Given the description of an element on the screen output the (x, y) to click on. 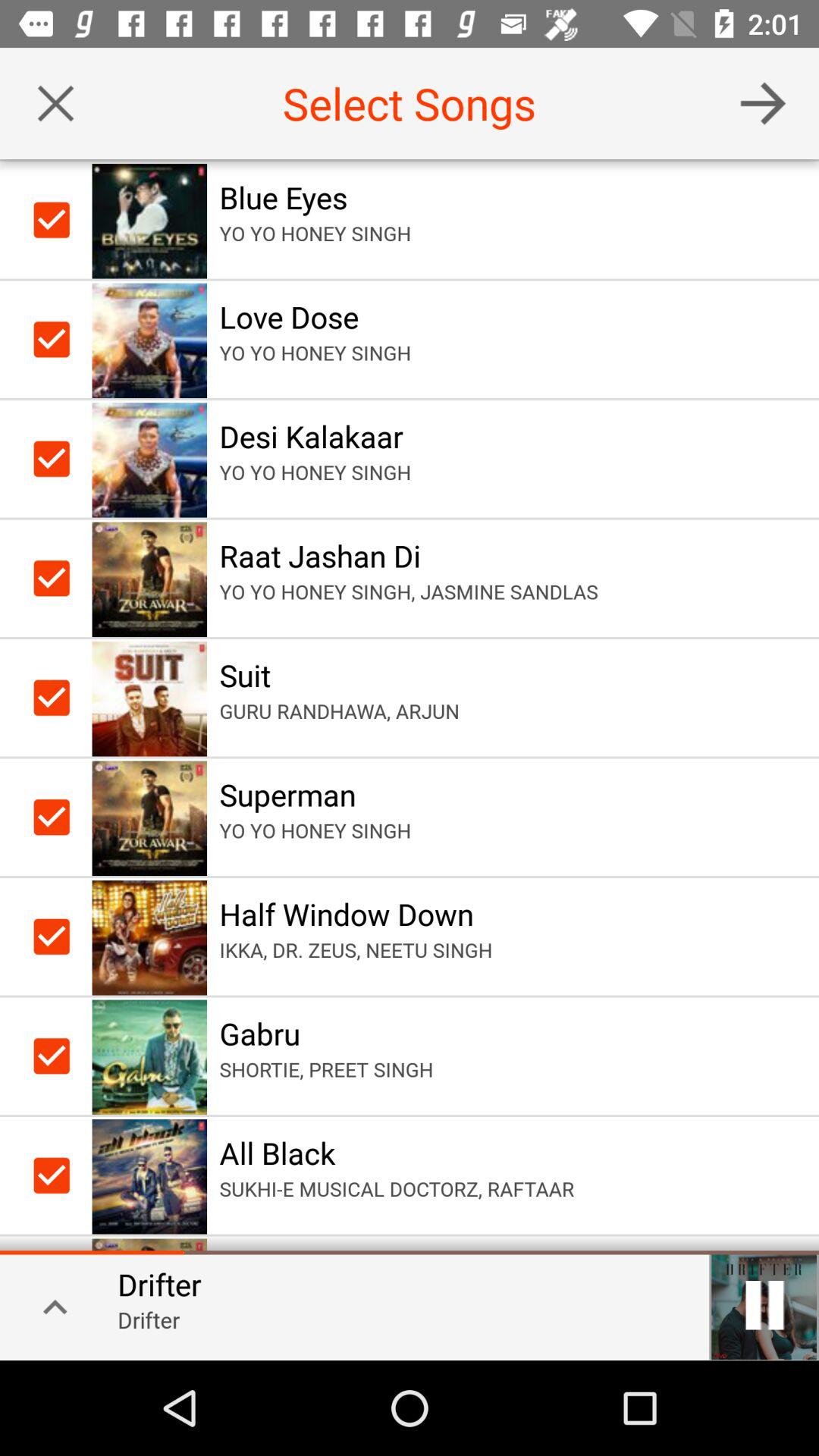
play the video (764, 1304)
